Given the description of an element on the screen output the (x, y) to click on. 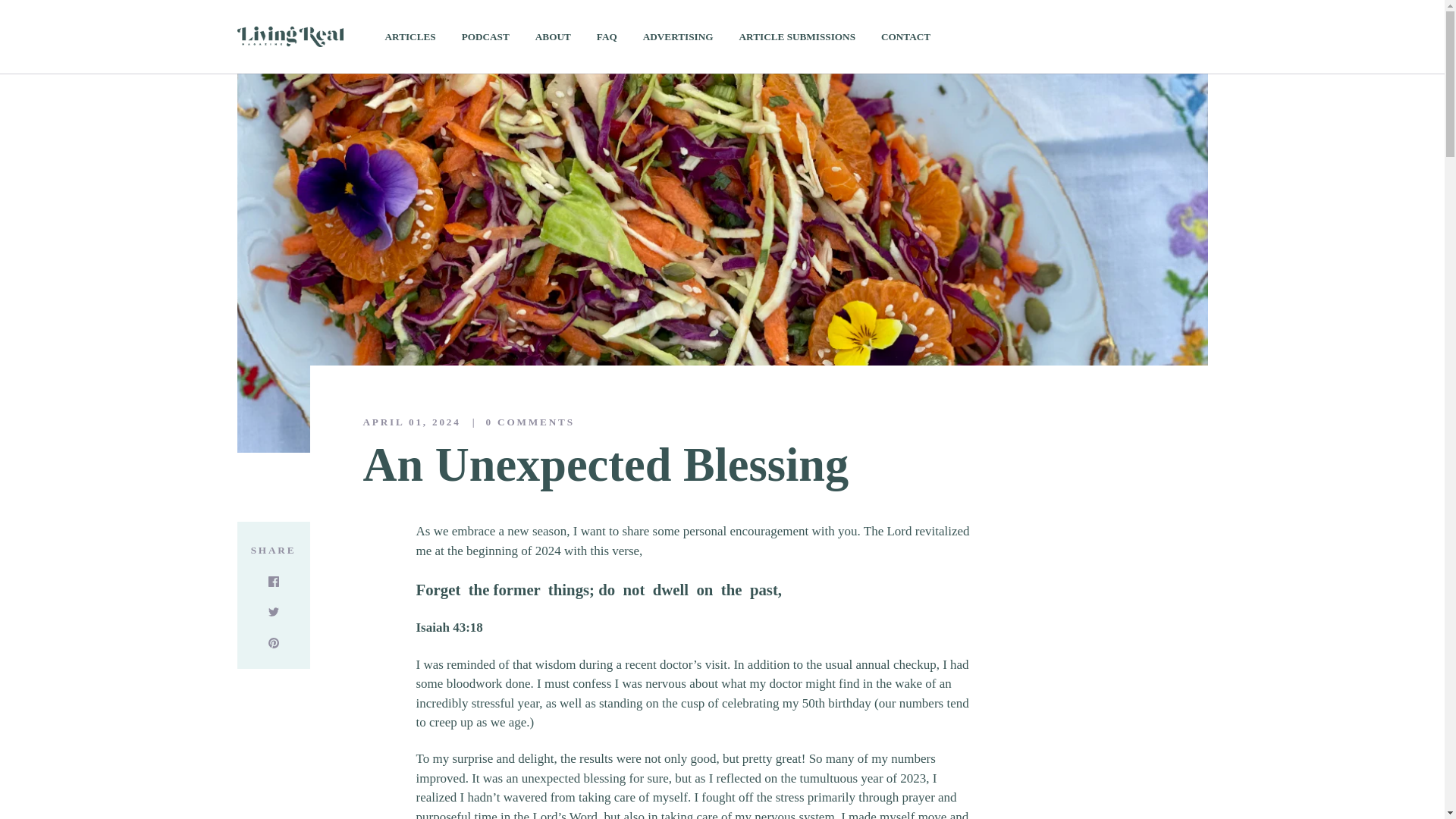
ARTICLE SUBMISSIONS (797, 36)
ABOUT (552, 36)
PODCAST (485, 36)
0 COMMENTS (518, 421)
ARTICLES (410, 36)
CONTACT (905, 36)
ADVERTISING (678, 36)
FAQ (606, 36)
